Given the description of an element on the screen output the (x, y) to click on. 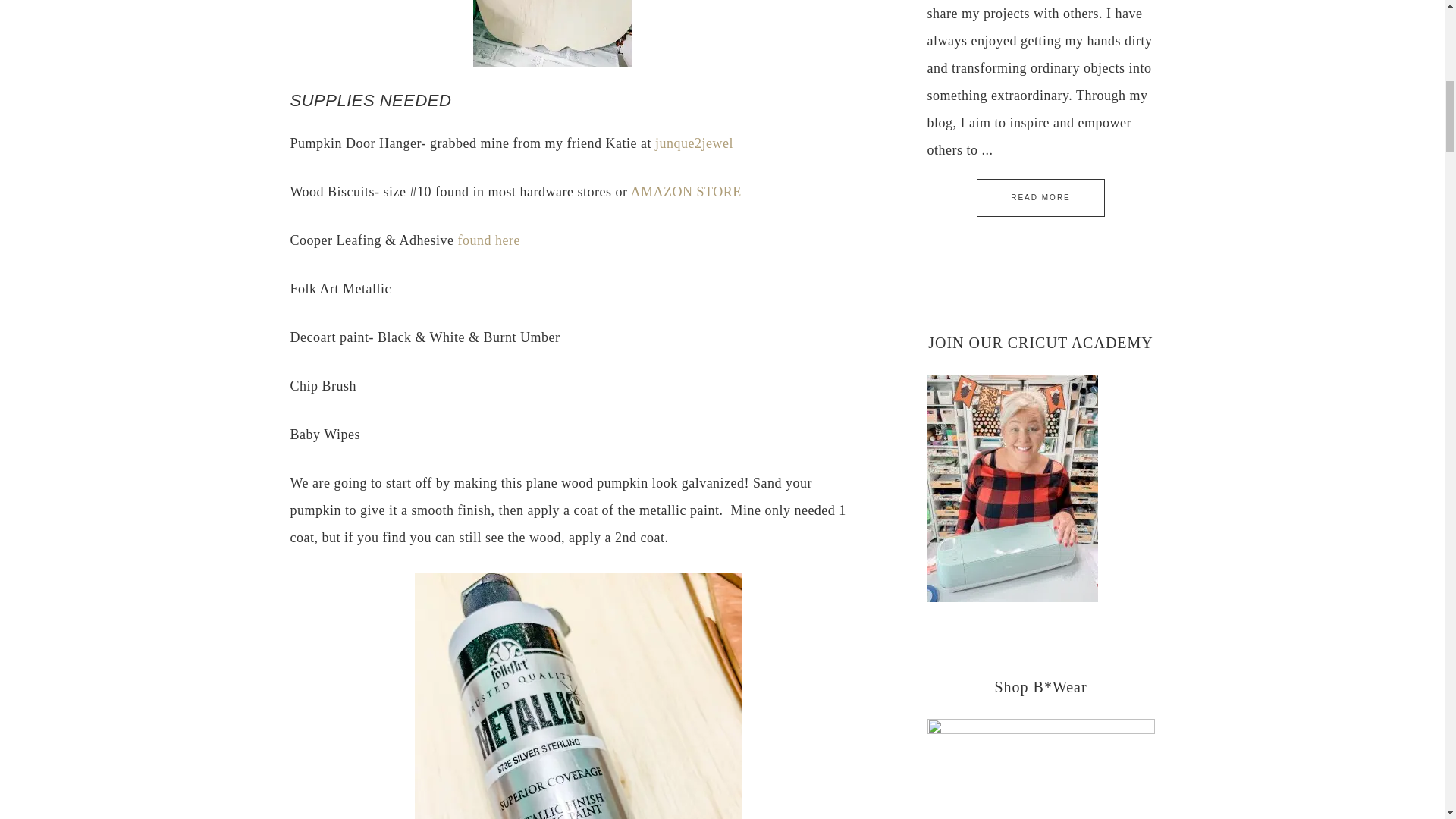
AMAZON STORE (685, 191)
found here (488, 240)
junque2jewel (694, 142)
AMAZON STORE (685, 191)
